Given the description of an element on the screen output the (x, y) to click on. 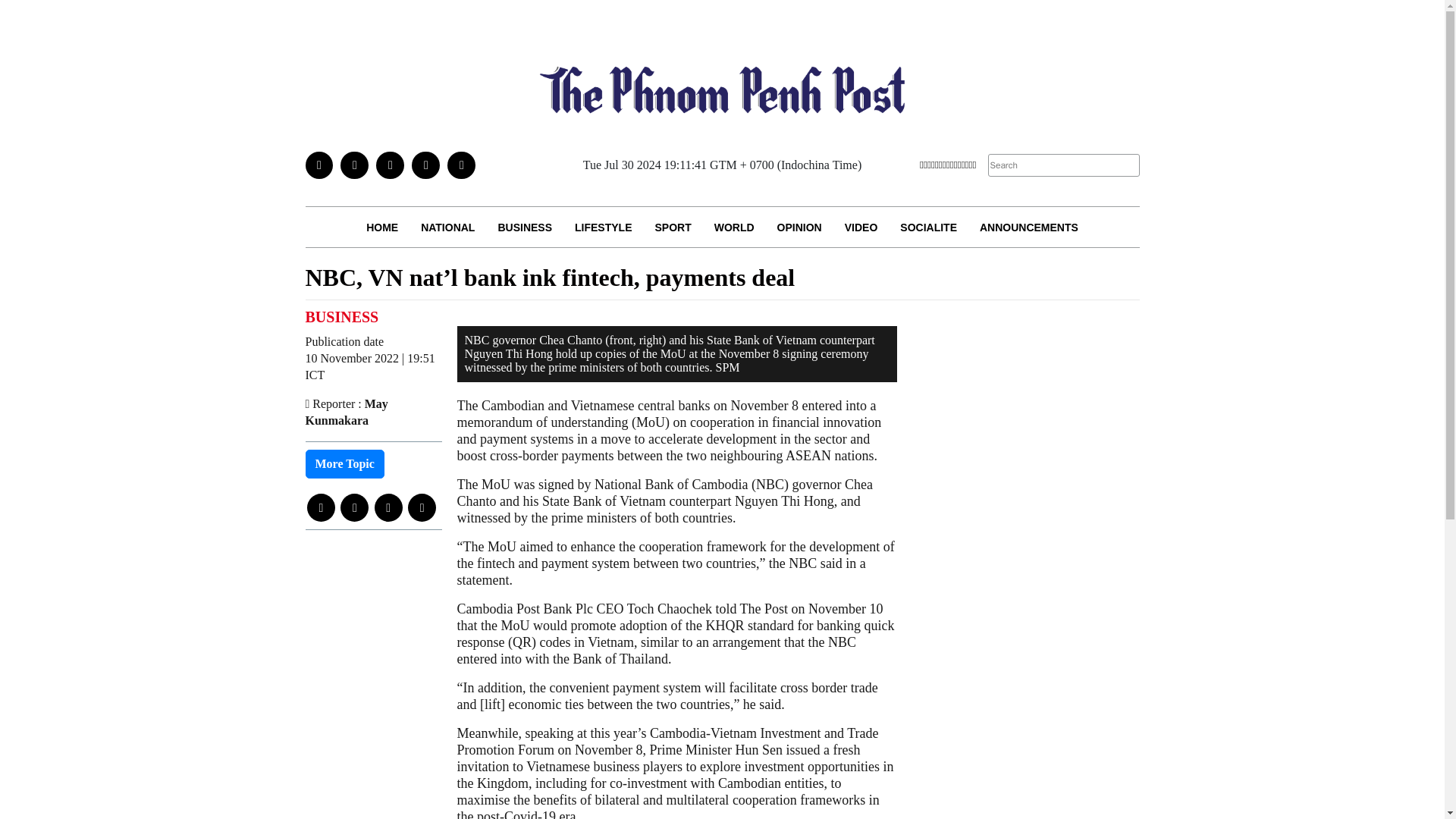
OPINION (798, 227)
ANNOUNCEMENTS (1028, 227)
VIDEO (860, 227)
HOME (382, 227)
SPORT (672, 227)
WORLD (734, 227)
LIFESTYLE (603, 227)
SOCIALITE (928, 227)
NATIONAL (447, 227)
BUSINESS (524, 227)
More Topic (344, 463)
